Given the description of an element on the screen output the (x, y) to click on. 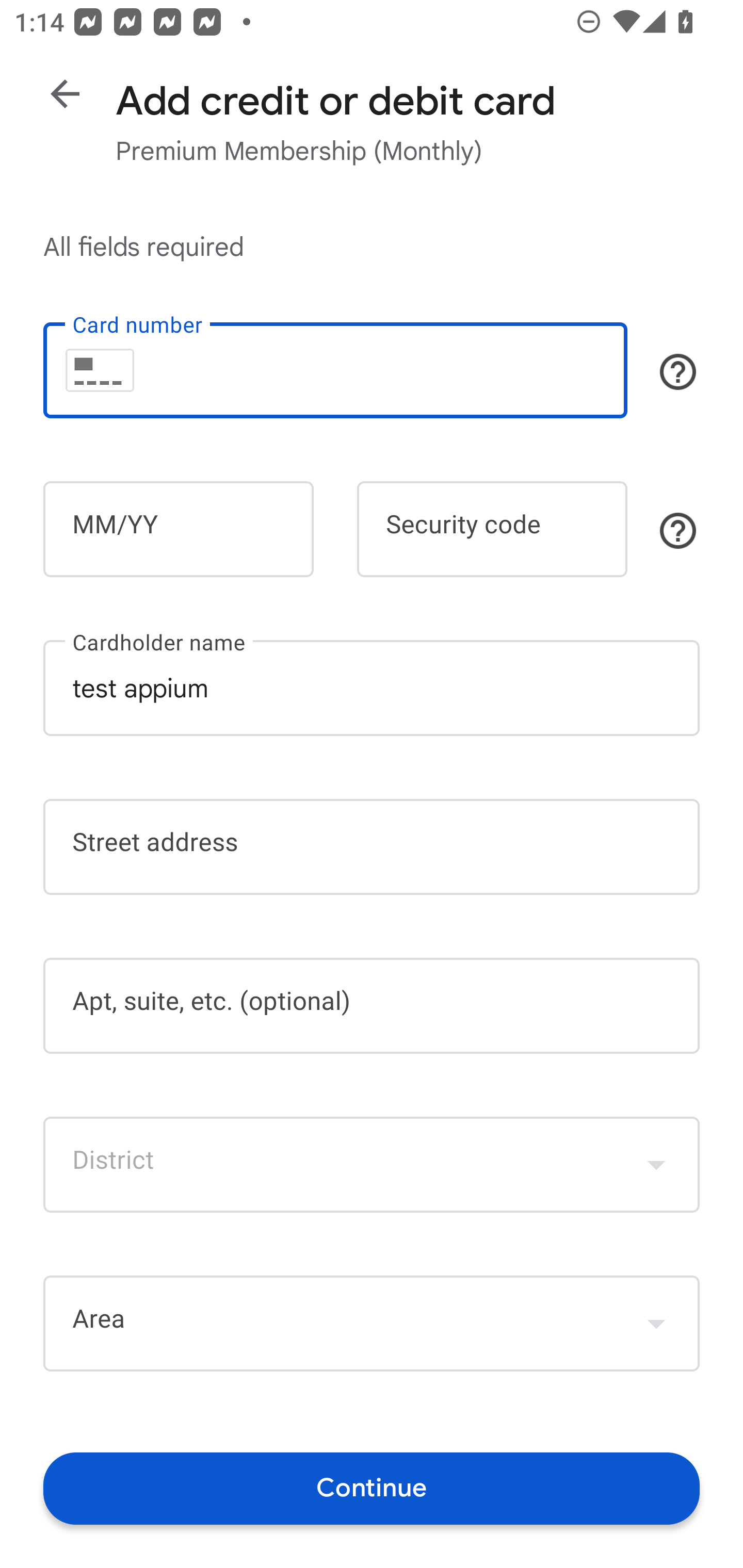
Back (64, 93)
Card number (335, 370)
Button, shows cards that are accepted for payment (677, 371)
Expiration date, 2 digit month, 2 digit year (178, 529)
Security code (492, 529)
Security code help (677, 530)
test appium (371, 687)
Street address (371, 847)
Apt, suite, etc. (optional) (371, 1005)
District (371, 1164)
Show dropdown menu (655, 1164)
Area (371, 1323)
Show dropdown menu (655, 1323)
Continue (371, 1487)
